Given the description of an element on the screen output the (x, y) to click on. 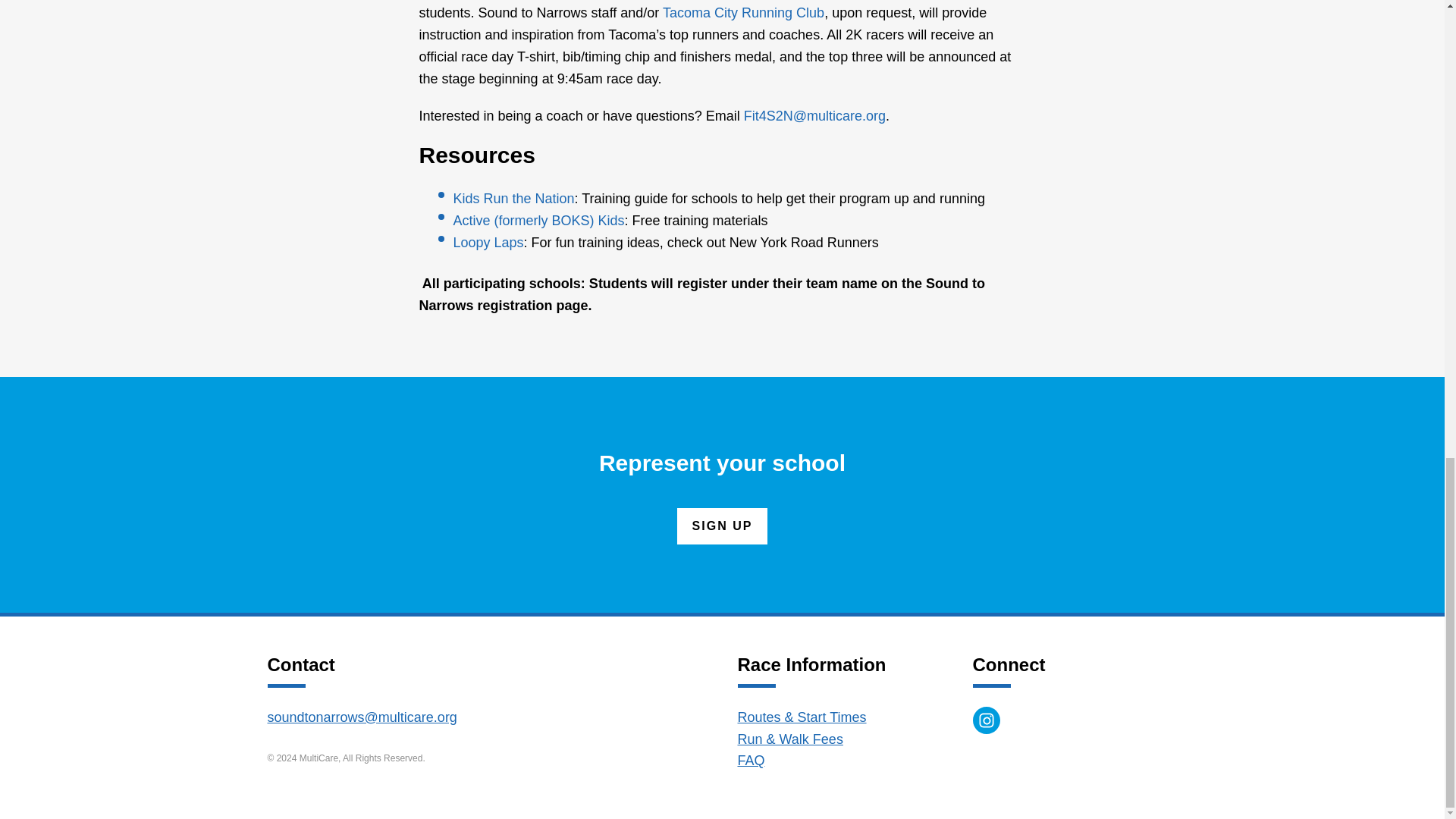
Tacoma City Running Club (743, 12)
Kids Run the Nation (513, 198)
FAQ (750, 760)
Loopy Laps (488, 242)
SIGN UP (722, 525)
instagram (985, 719)
